Given the description of an element on the screen output the (x, y) to click on. 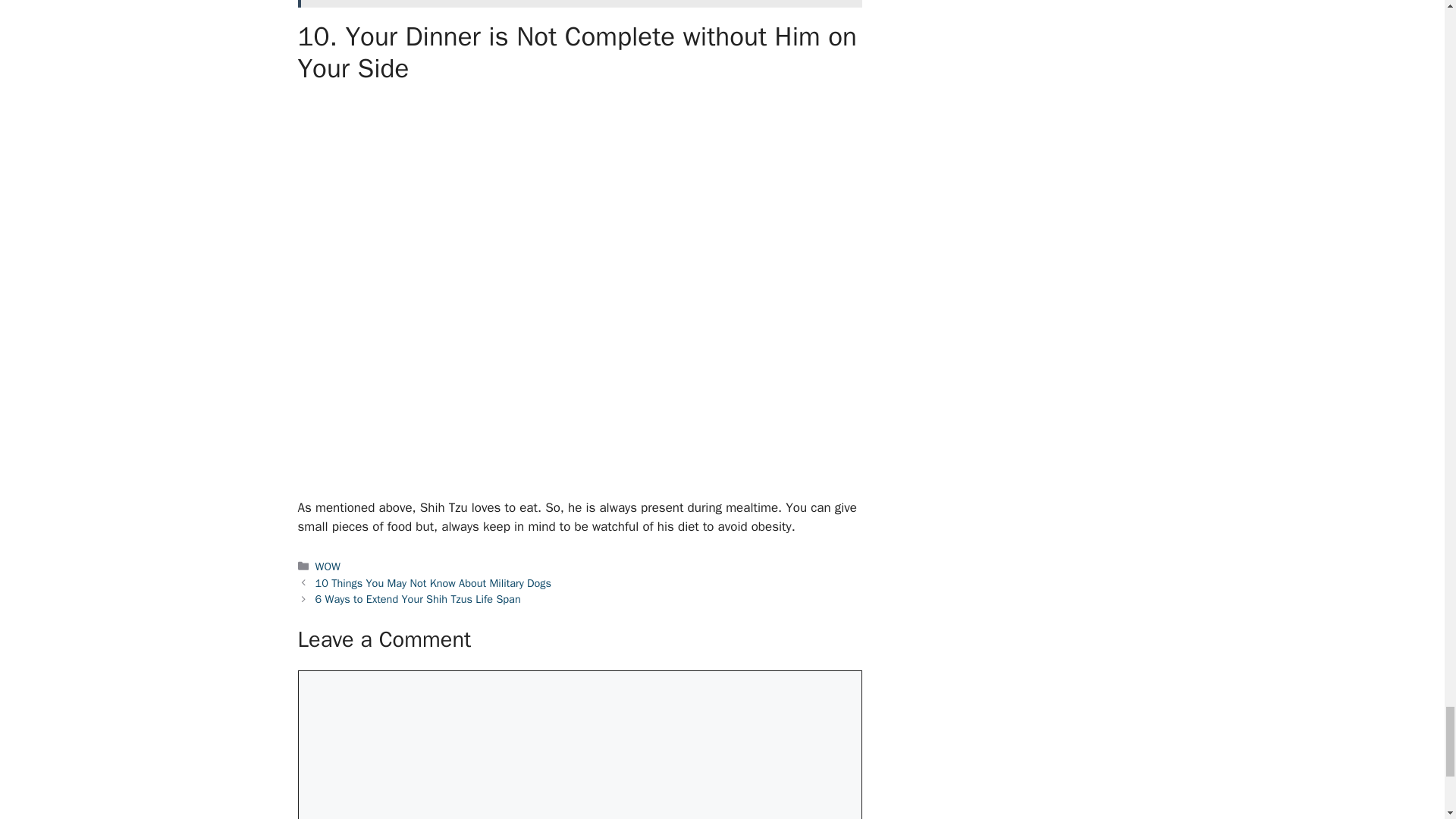
See also  6 Good Reasons To Adopt A Senior Or Older Dog (579, 4)
10 Things You May Not Know About Military Dogs (433, 582)
WOW (327, 566)
6 Ways to Extend Your Shih Tzus Life Span (418, 599)
